Given the description of an element on the screen output the (x, y) to click on. 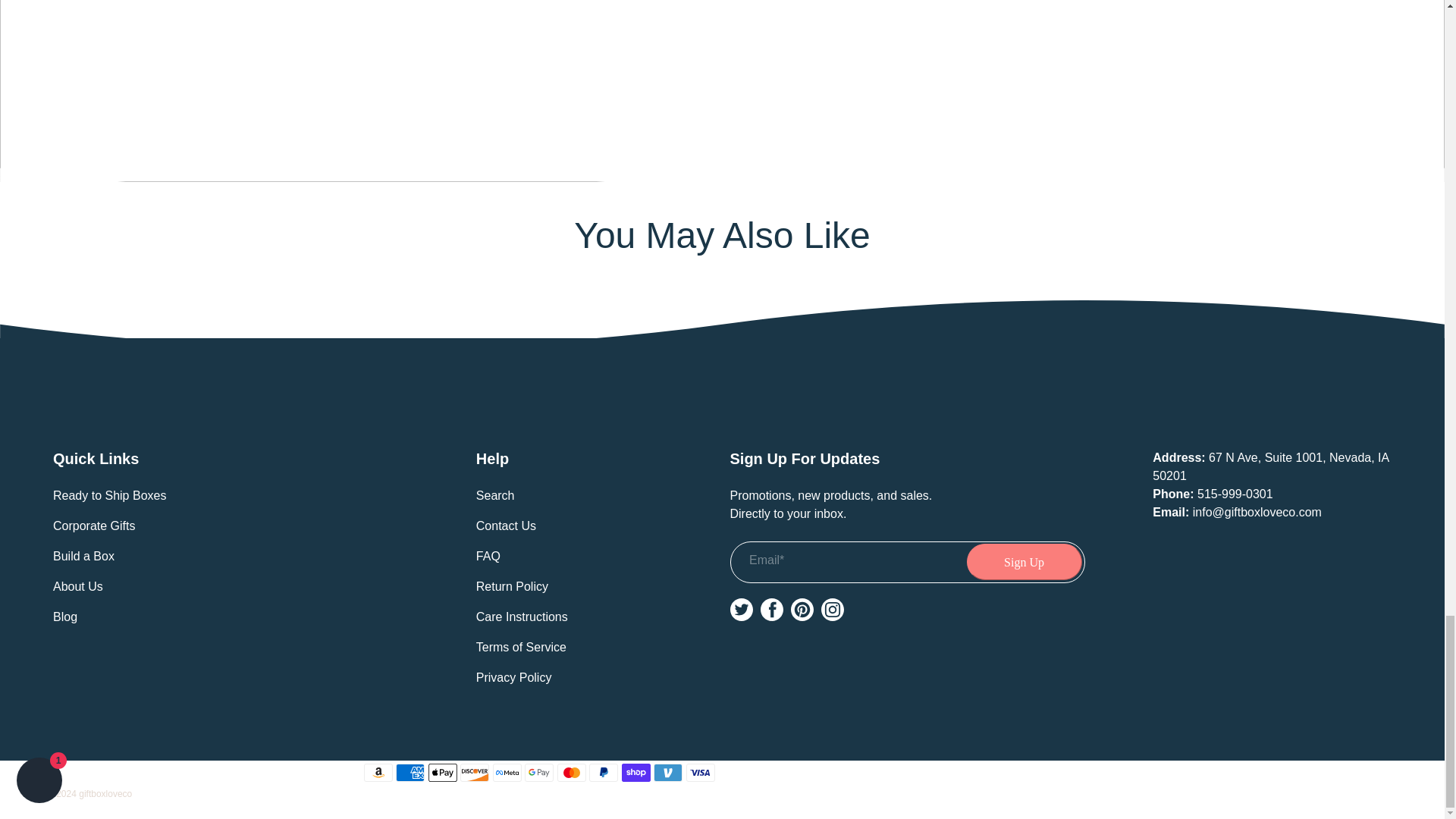
Apple Pay (442, 772)
giftboxloveco on Facebook (771, 609)
giftboxloveco (722, 403)
giftboxloveco on Twitter (740, 609)
Amazon (378, 772)
giftboxloveco on Instagram (832, 609)
giftboxloveco on Pinterest (801, 609)
American Express (410, 772)
